Given the description of an element on the screen output the (x, y) to click on. 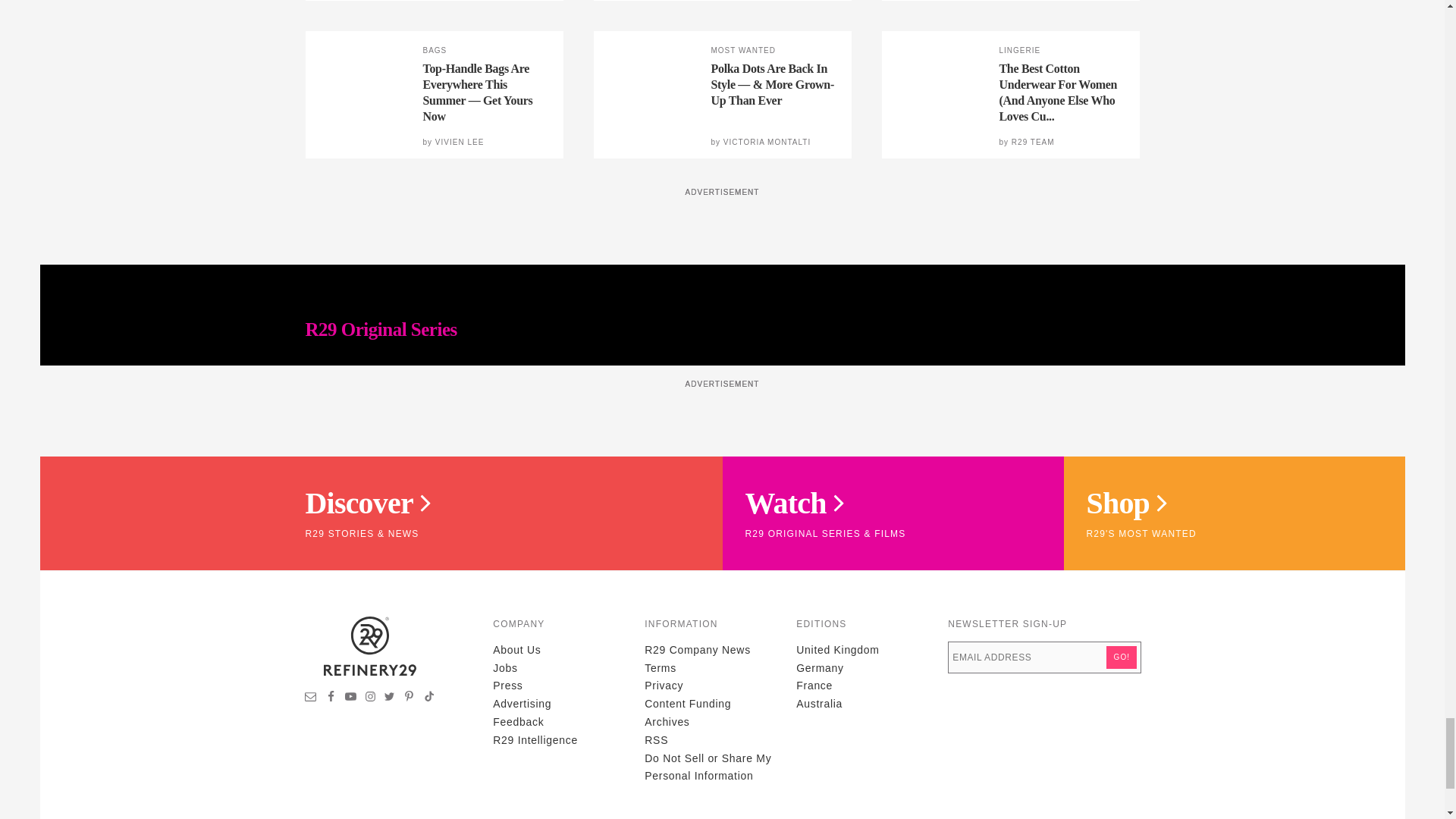
Visit Refinery29 on YouTube (350, 698)
Sign up for newsletters (310, 698)
